Given the description of an element on the screen output the (x, y) to click on. 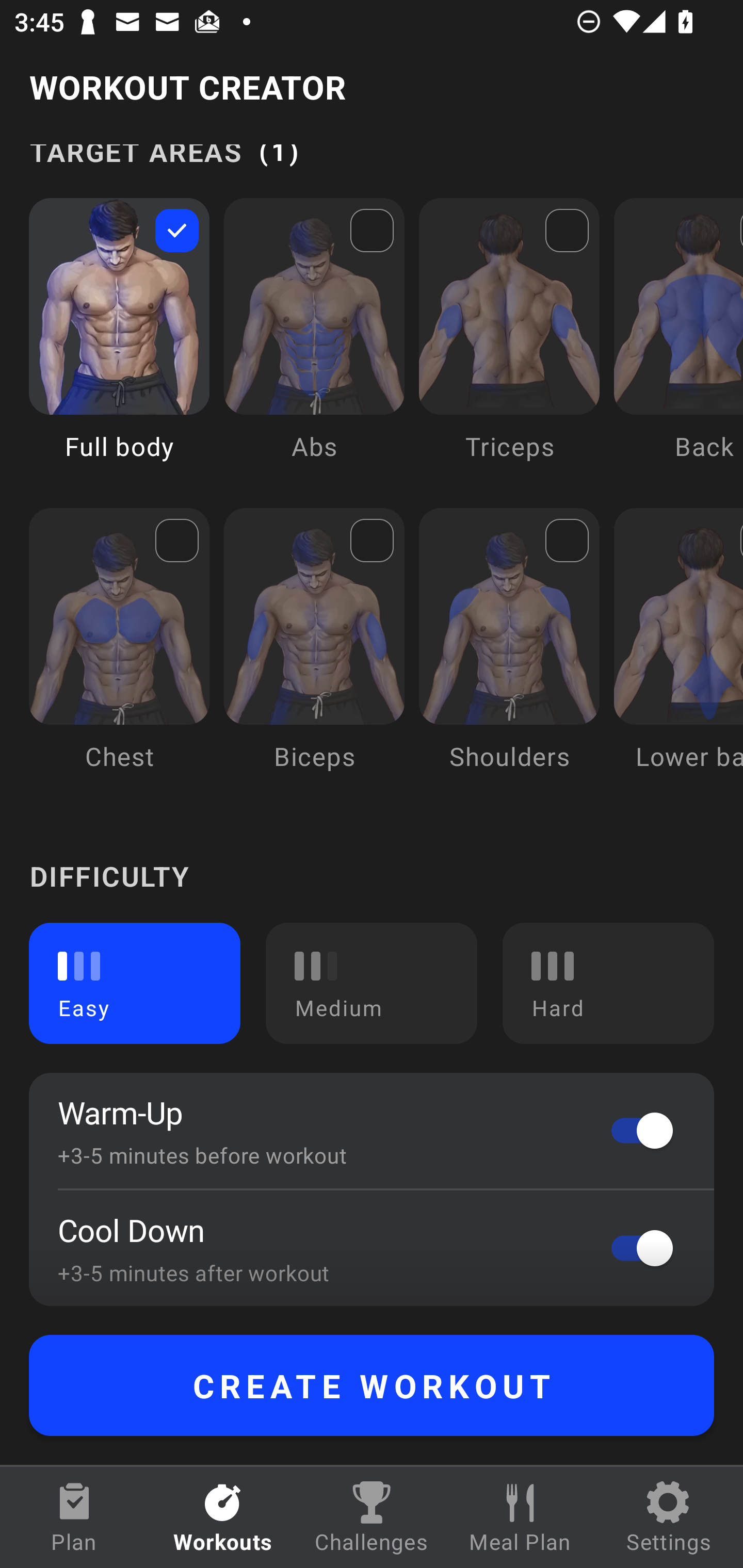
Abs (313, 343)
Triceps (509, 343)
Back (678, 343)
Chest (118, 653)
Biceps (313, 653)
Shoulders (509, 653)
Lower back (678, 653)
Medium (371, 982)
Hard (608, 982)
CREATE WORKOUT (371, 1385)
 Plan  (74, 1517)
 Challenges  (371, 1517)
 Meal Plan  (519, 1517)
 Settings  (668, 1517)
